Given the description of an element on the screen output the (x, y) to click on. 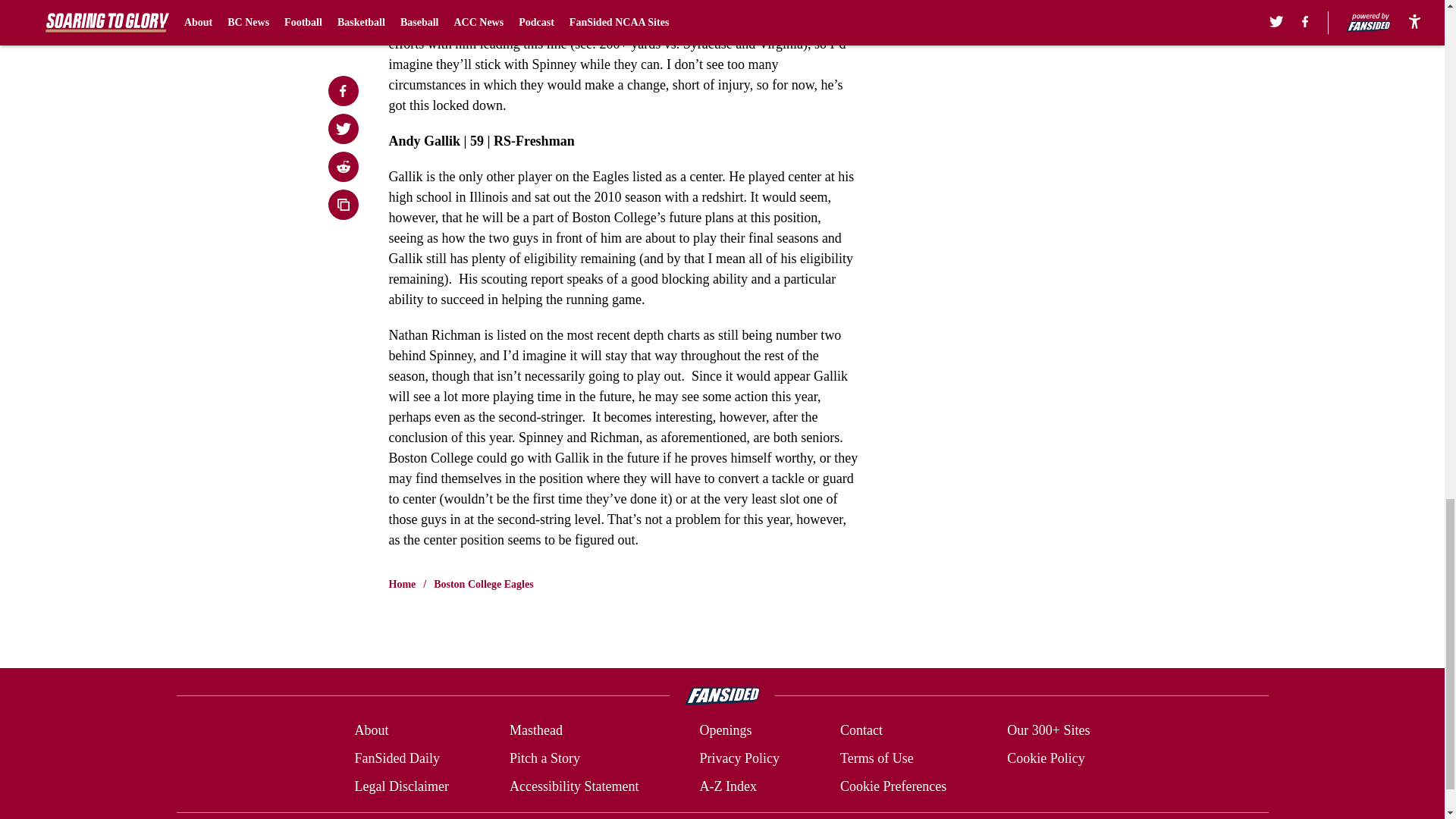
Openings (724, 730)
Cookie Policy (1045, 758)
FanSided Daily (396, 758)
About (370, 730)
Cookie Preferences (893, 786)
Accessibility Statement (574, 786)
Pitch a Story (544, 758)
Legal Disclaimer (400, 786)
Masthead (535, 730)
A-Z Index (726, 786)
